Given the description of an element on the screen output the (x, y) to click on. 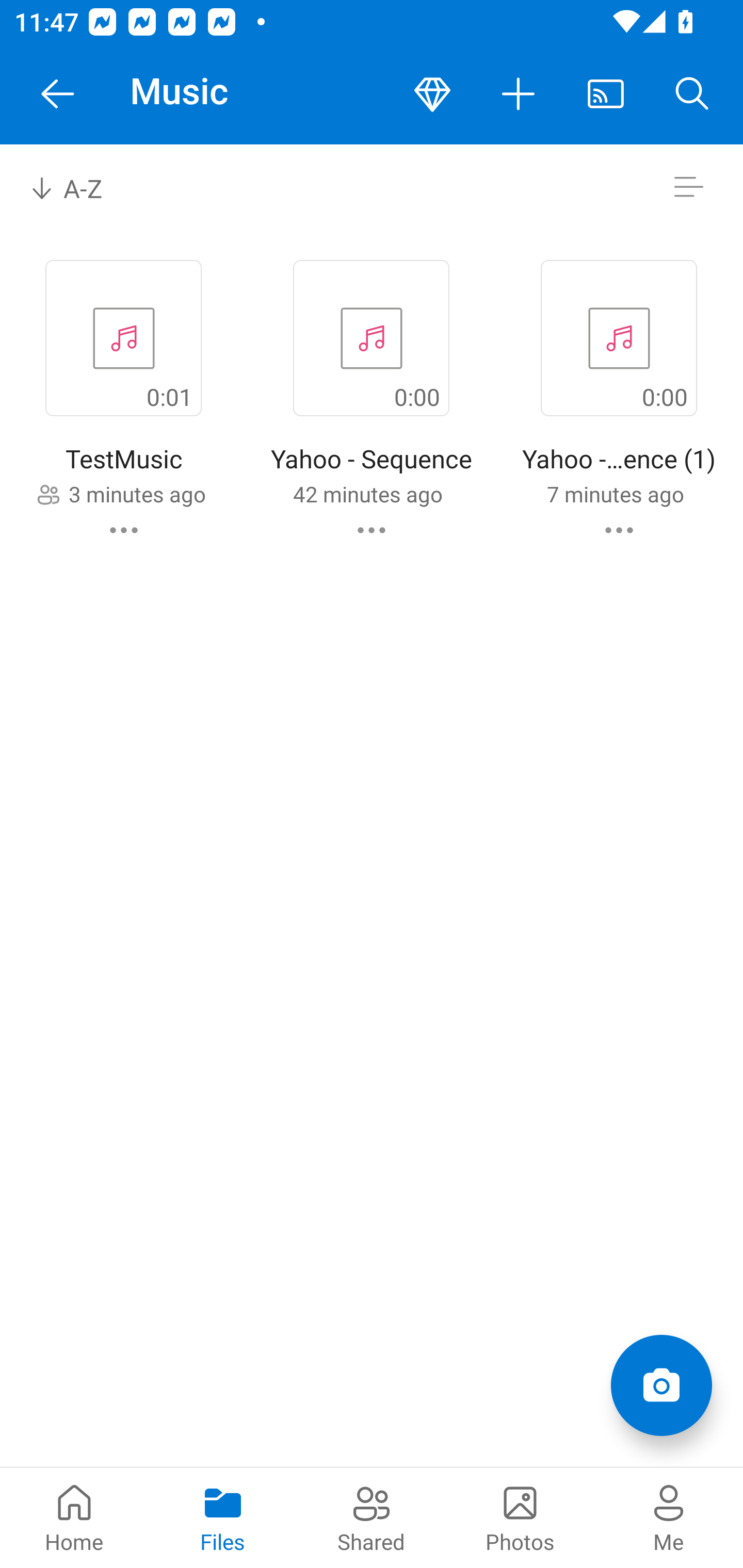
Navigate Up (57, 93)
Cast. Disconnected (605, 93)
Premium button (432, 93)
More actions button (518, 93)
Search button (692, 93)
A-Z Sort by combo box, sort by name, A to Z (80, 187)
Switch to list view (688, 187)
3 minutes ago (136, 493)
42 minutes ago (367, 493)
7 minutes ago (615, 493)
TestMusic commands (123, 529)
Yahoo - Sequence commands (371, 529)
Yahoo - Sequence (1) commands (618, 529)
Add items Scan (660, 1385)
Home pivot Home (74, 1517)
Shared pivot Shared (371, 1517)
Photos pivot Photos (519, 1517)
Me pivot Me (668, 1517)
